Given the description of an element on the screen output the (x, y) to click on. 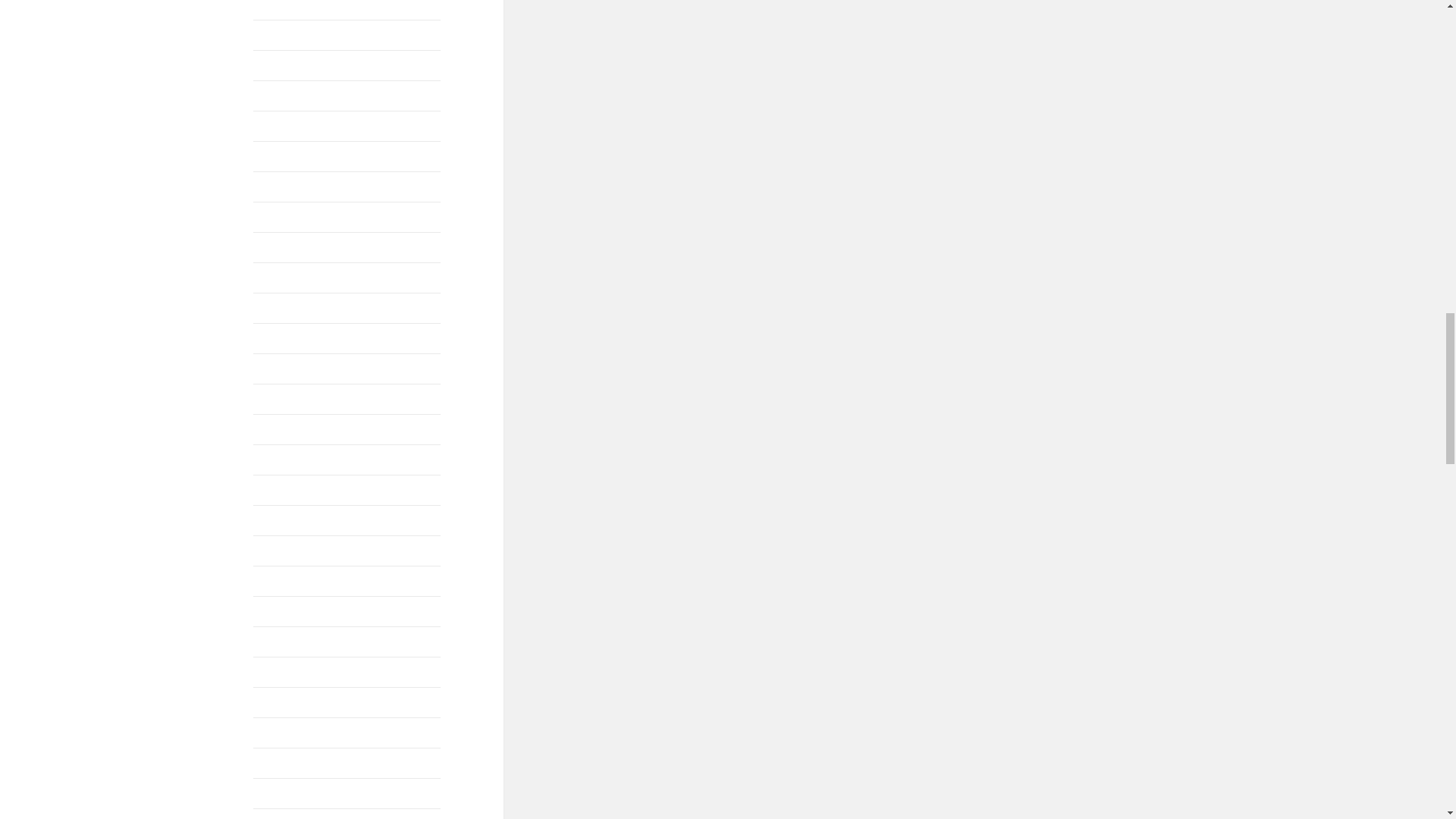
April 2022 (279, 34)
March 2022 (283, 65)
May 2022 (277, 5)
February 2022 (288, 95)
